Given the description of an element on the screen output the (x, y) to click on. 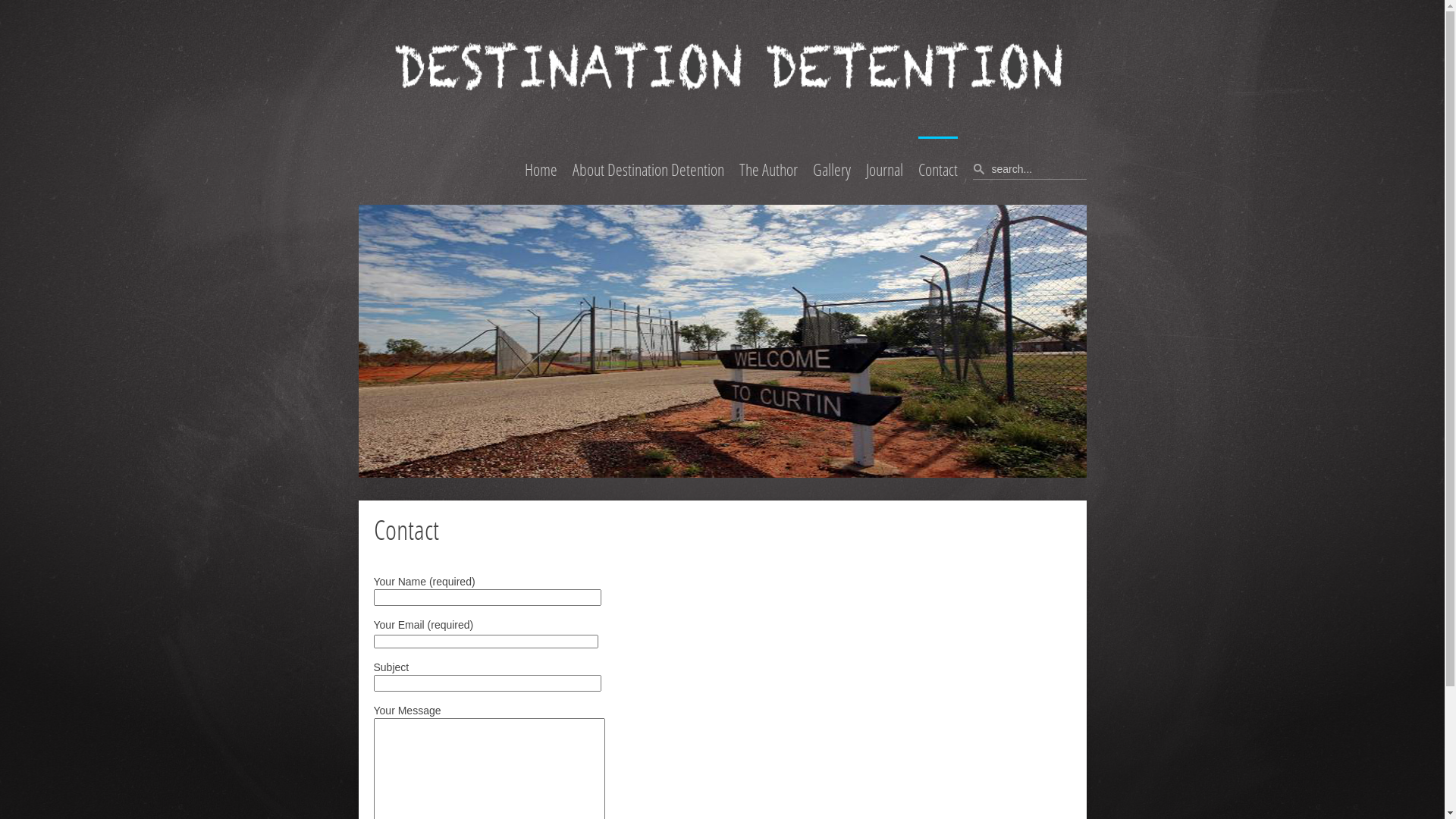
Reset Element type: text (3, 3)
Contact Element type: text (937, 170)
Journal Element type: text (884, 170)
Home Element type: text (540, 170)
About Destination Detention Element type: text (647, 170)
Gallery Element type: text (831, 170)
The Author Element type: text (767, 170)
